Given the description of an element on the screen output the (x, y) to click on. 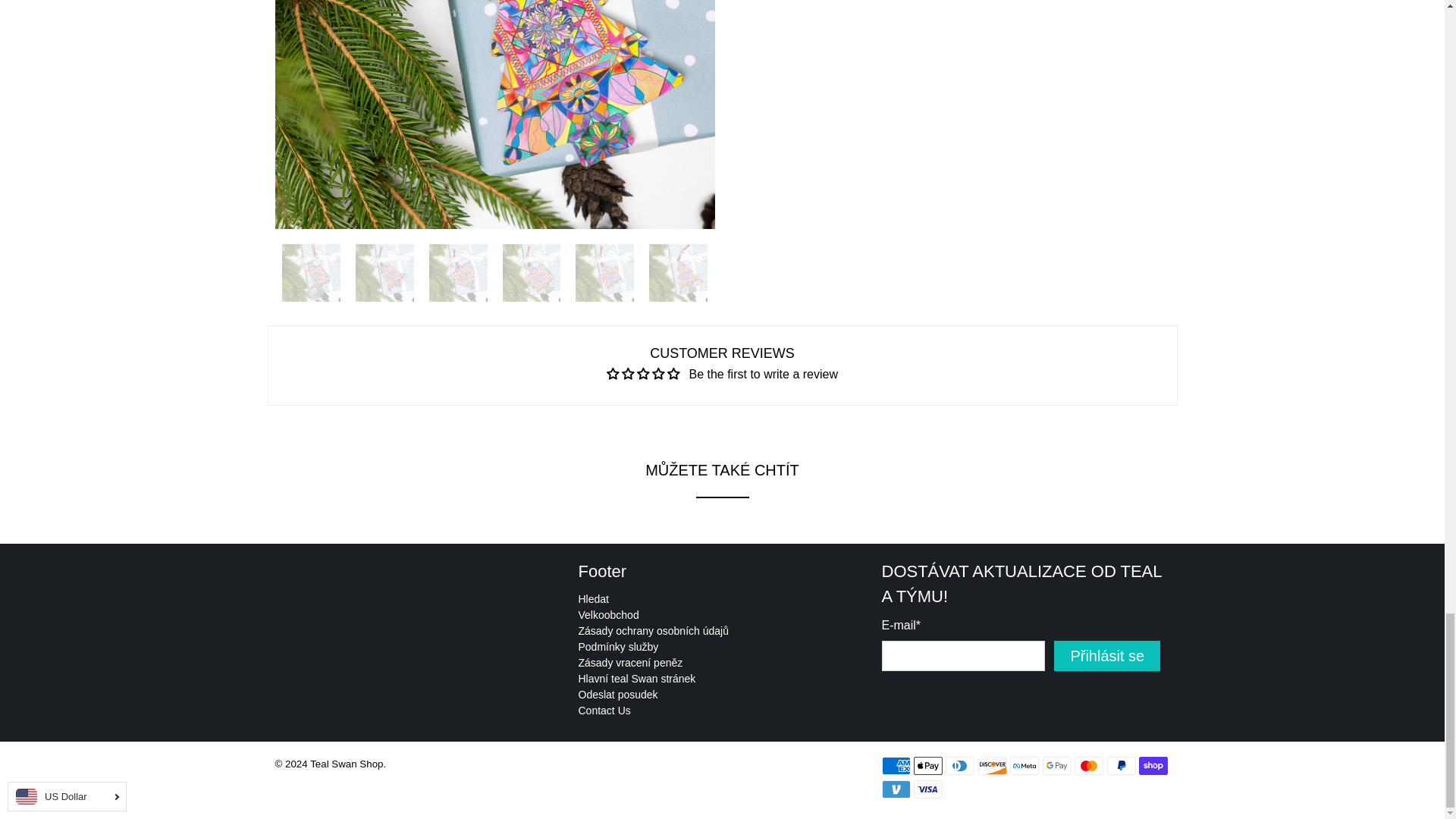
Shop Pay (1152, 765)
Google Pay (1056, 765)
PayPal (1120, 765)
Discover (992, 765)
Mastercard (1088, 765)
American Express (895, 765)
Meta Pay (1024, 765)
Apple Pay (928, 765)
Diners Club (959, 765)
